Given the description of an element on the screen output the (x, y) to click on. 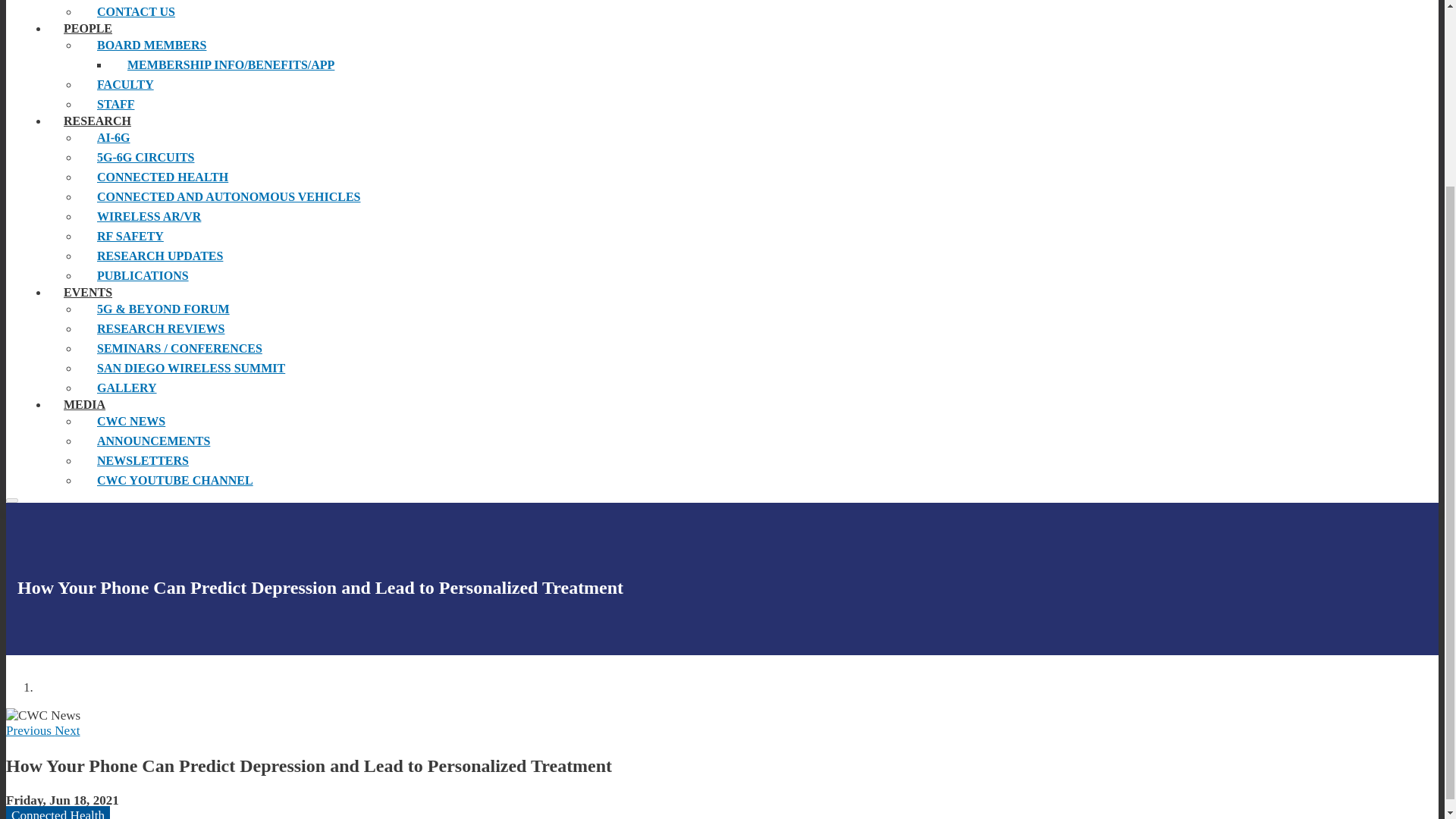
BOARD MEMBERS (228, 45)
STAFF (228, 104)
CWC YOUTUBE CHANNEL (228, 480)
CONNECTED HEALTH (228, 177)
NEWSLETTERS (228, 460)
Next (67, 730)
CWC NEWS (228, 421)
CONTACT US (228, 12)
RESEARCH (97, 120)
AI-6G (228, 137)
5G-6G CIRCUITS (228, 157)
Previous (30, 730)
YouTube Channel of Vidoe Presentations (228, 480)
RESEARCH REVIEWS (228, 329)
FACULTY (228, 85)
